Given the description of an element on the screen output the (x, y) to click on. 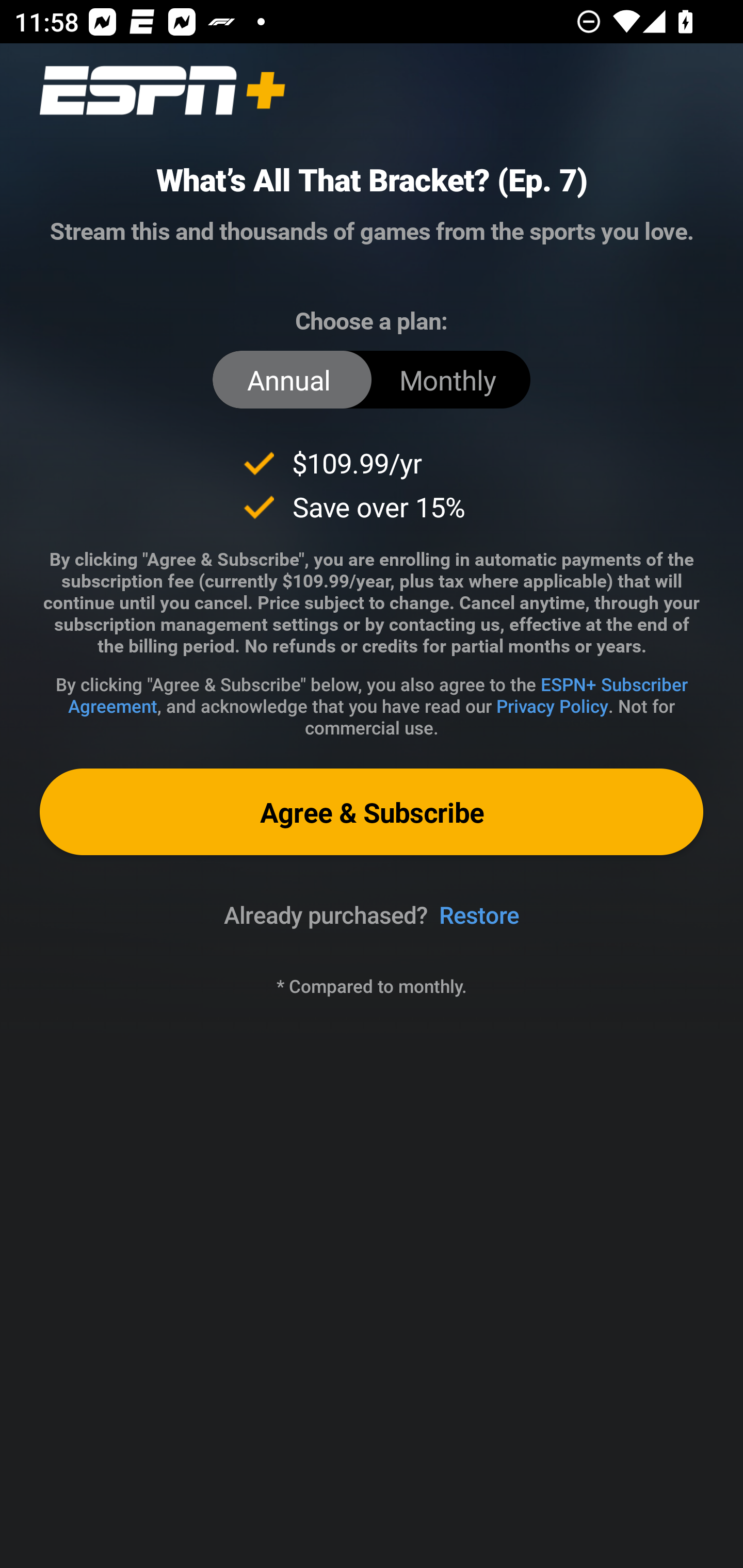
Agree & Subscribe (371, 811)
